Given the description of an element on the screen output the (x, y) to click on. 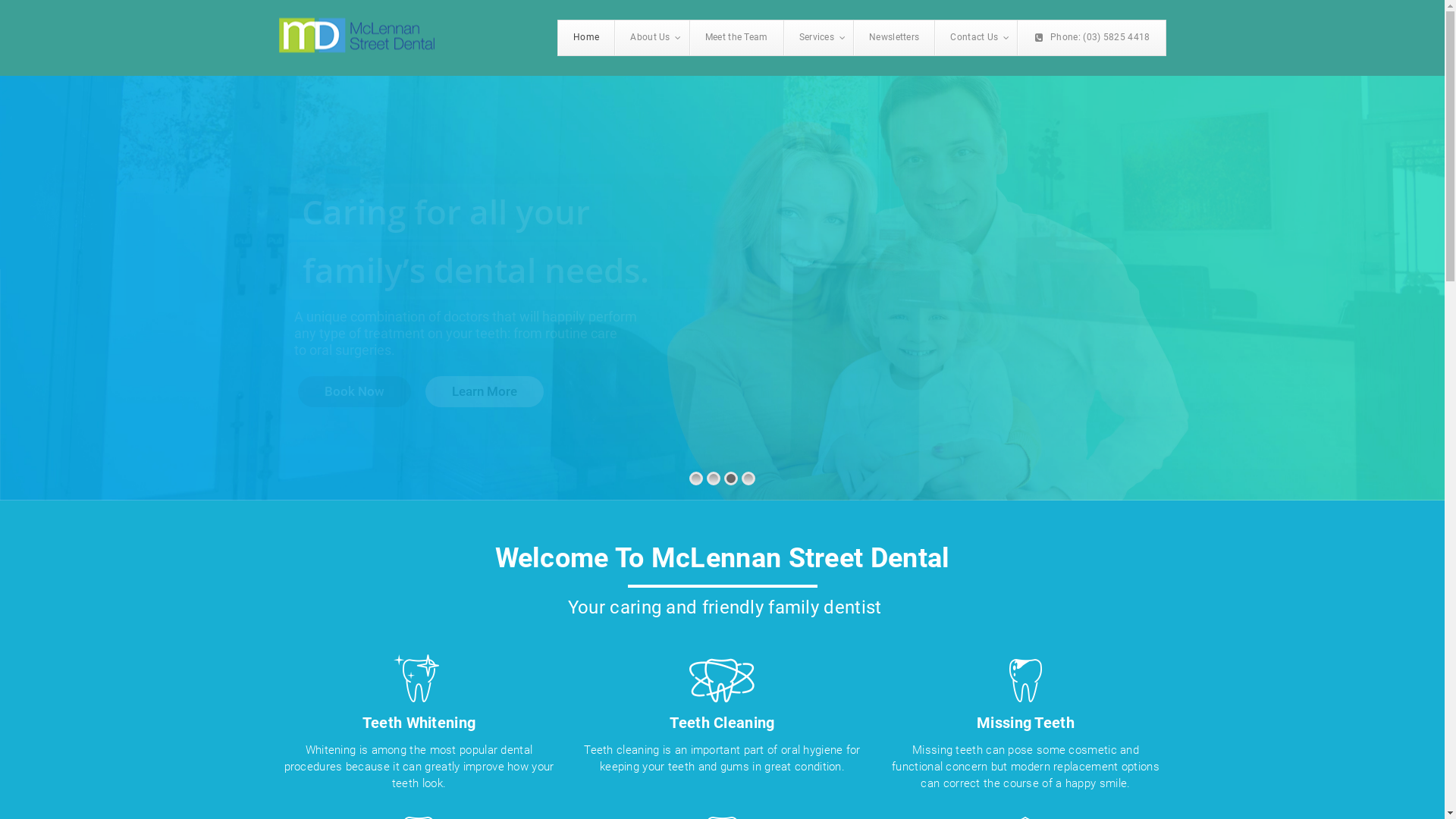
Newsletters Element type: text (893, 37)
Home Element type: text (586, 37)
About Us Element type: text (651, 37)
Phone: (03) 5825 4418 Element type: text (1090, 37)
Services Element type: text (818, 37)
Meet the Team Element type: text (736, 37)
Contact Us Element type: text (975, 37)
